Given the description of an element on the screen output the (x, y) to click on. 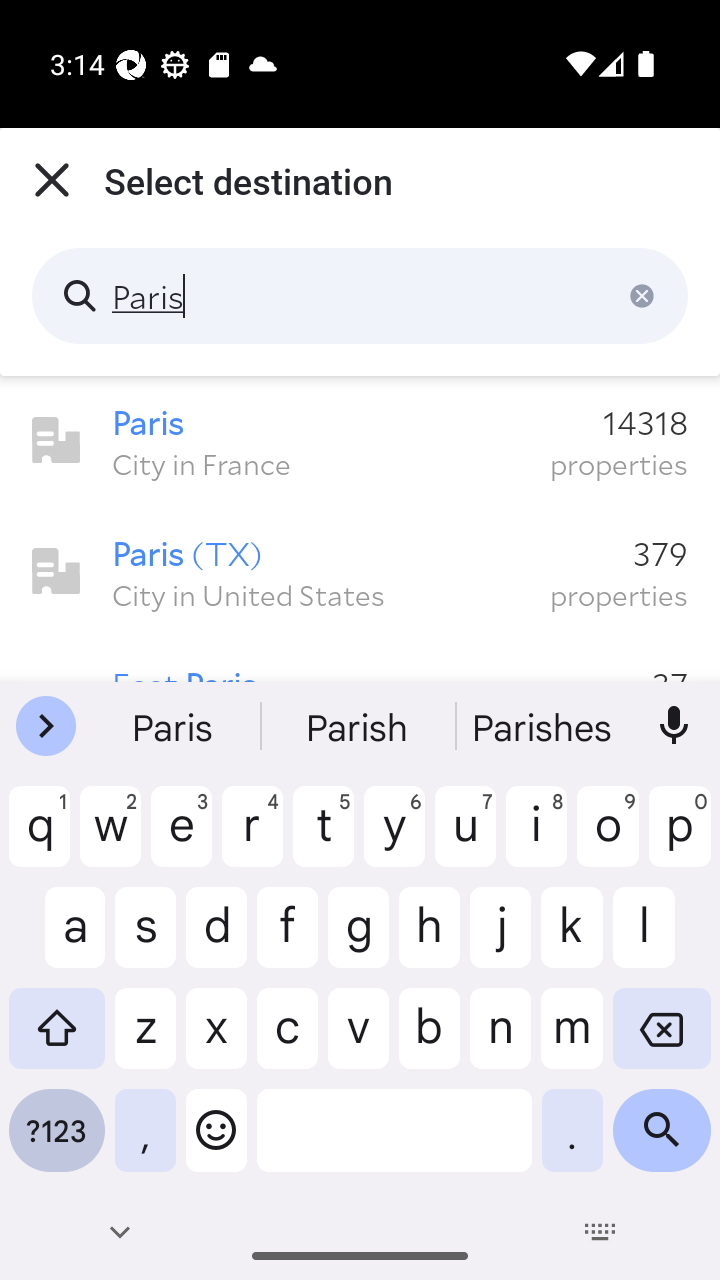
Paris (359, 296)
Paris 14318 City in France properties (360, 441)
Paris (TX) 379 City in United States properties (360, 571)
